Given the description of an element on the screen output the (x, y) to click on. 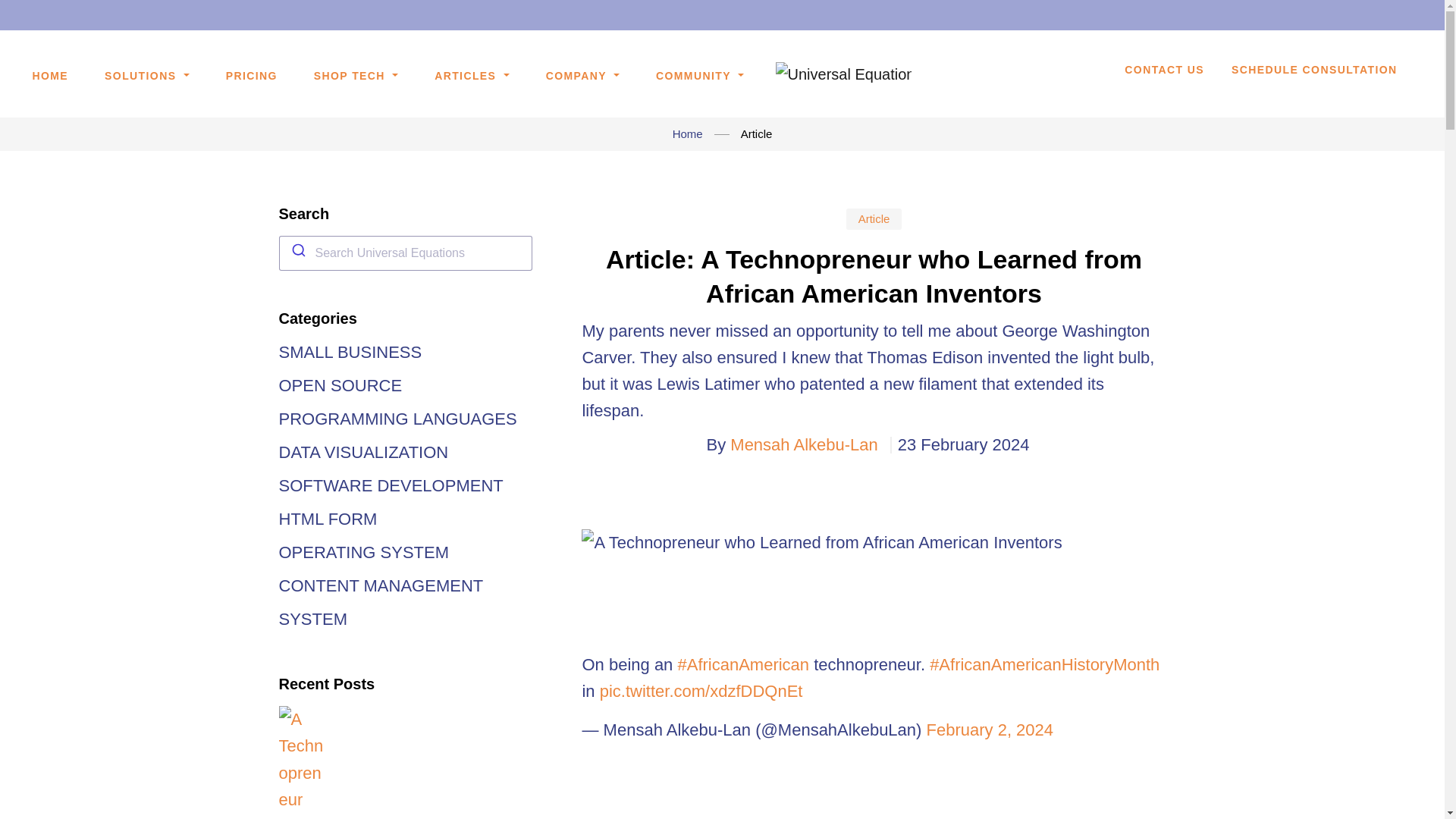
COMMUNITY (700, 75)
SCHEDULE CONSULTATION (1313, 77)
PRICING (251, 75)
HOME (50, 75)
COMPANY (583, 75)
CONTACT US (1162, 77)
ARTICLES (471, 75)
SOLUTIONS (146, 75)
Submit (296, 249)
SHOP TECH (355, 75)
Home (687, 133)
